Given the description of an element on the screen output the (x, y) to click on. 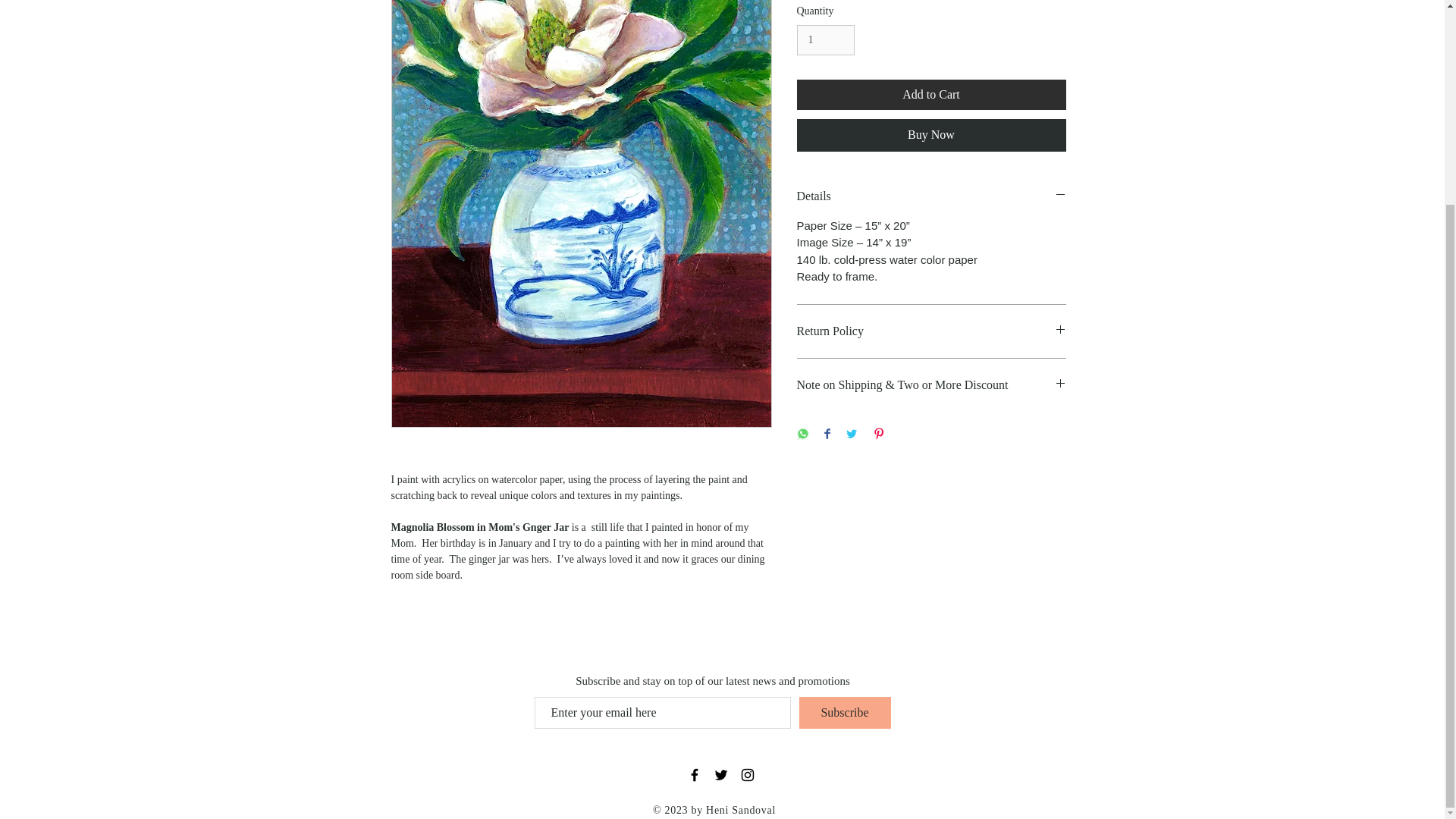
Details (930, 196)
1 (824, 40)
Buy Now (930, 134)
Return Policy (930, 330)
Subscribe (845, 712)
Add to Cart (930, 94)
